Given the description of an element on the screen output the (x, y) to click on. 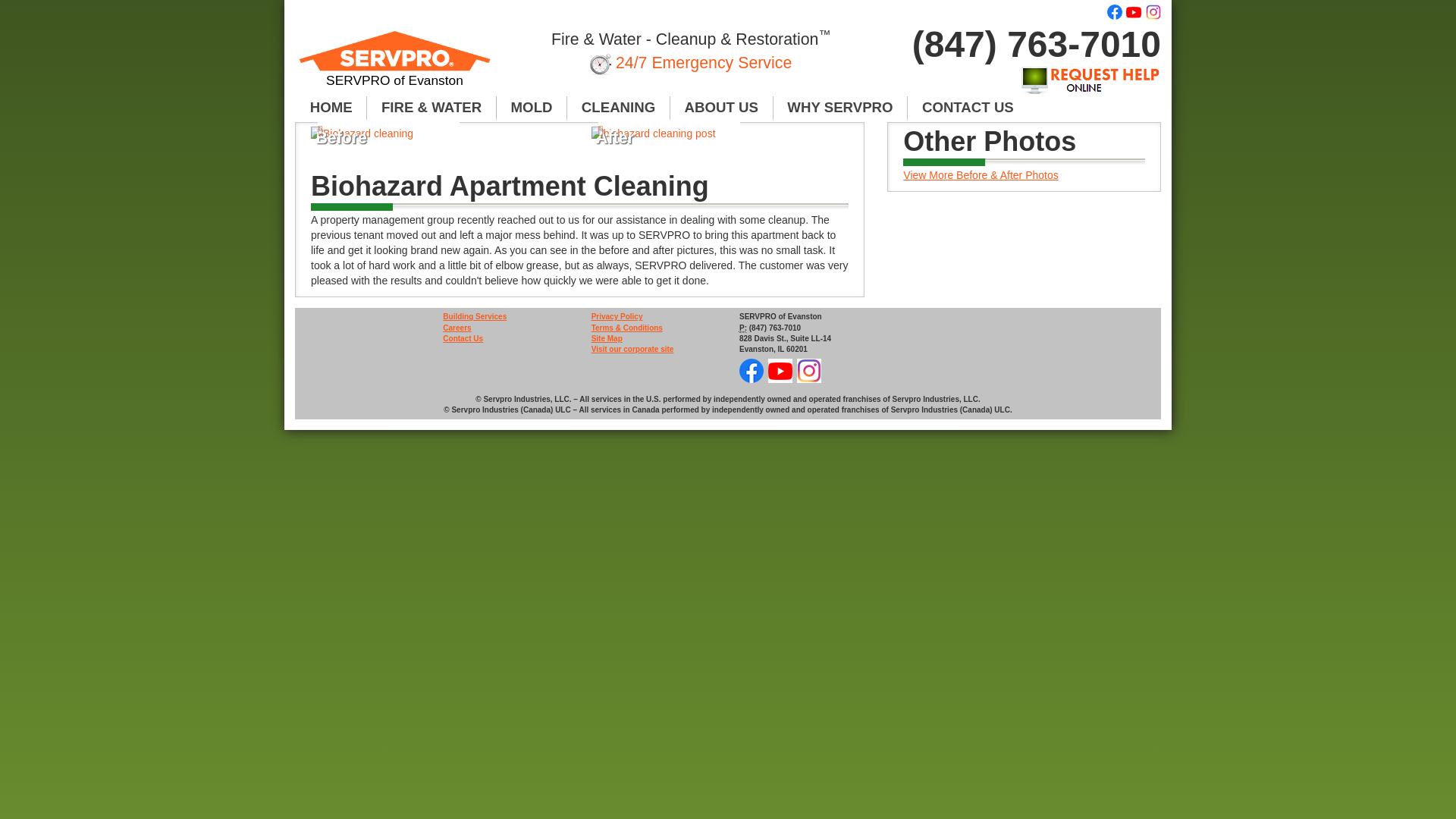
MOLD (531, 108)
SERVPRO of Evanston (395, 65)
HOME (330, 108)
ABOUT US (721, 108)
CLEANING (618, 108)
